Given the description of an element on the screen output the (x, y) to click on. 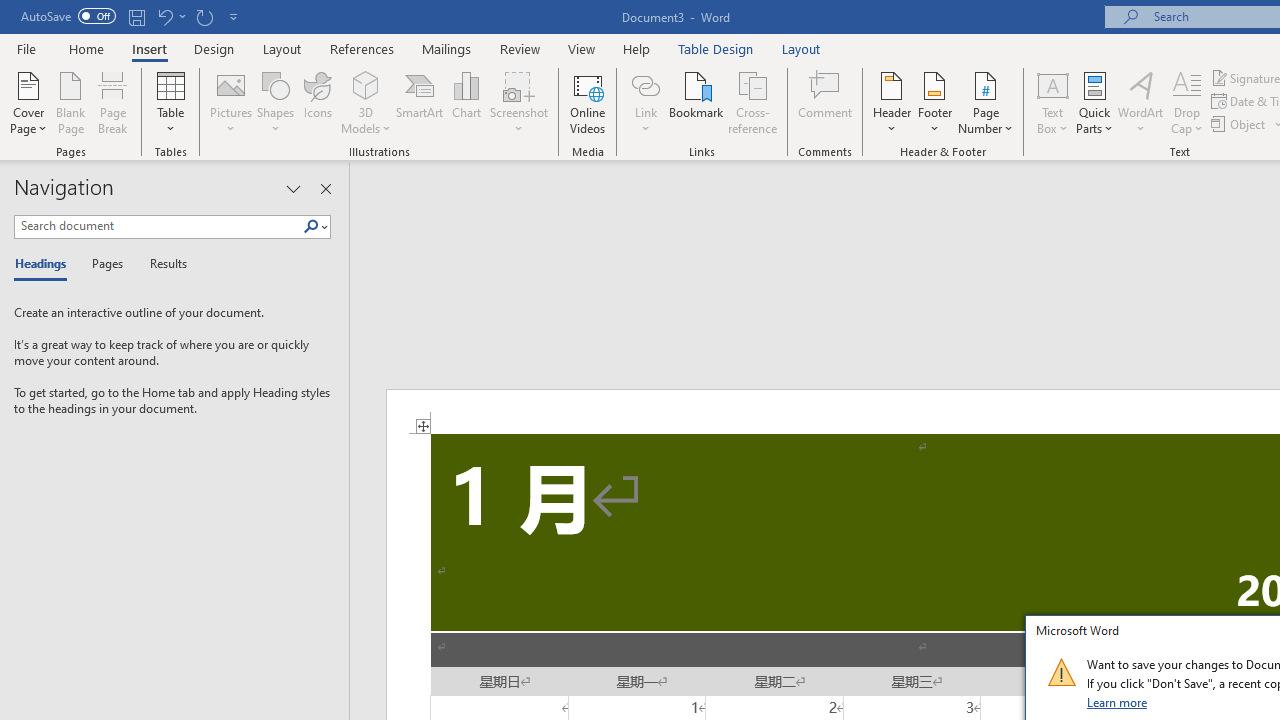
Mailings (447, 48)
System (10, 11)
Task Pane Options (293, 188)
3D Models (366, 102)
Shapes (275, 102)
Blank Page (70, 102)
Drop Cap (1187, 102)
Table (170, 102)
Text Box (1052, 102)
Undo Increase Indent (164, 15)
System (10, 11)
WordArt (1141, 102)
Chart... (466, 102)
Help (637, 48)
Page Break (113, 102)
